Given the description of an element on the screen output the (x, y) to click on. 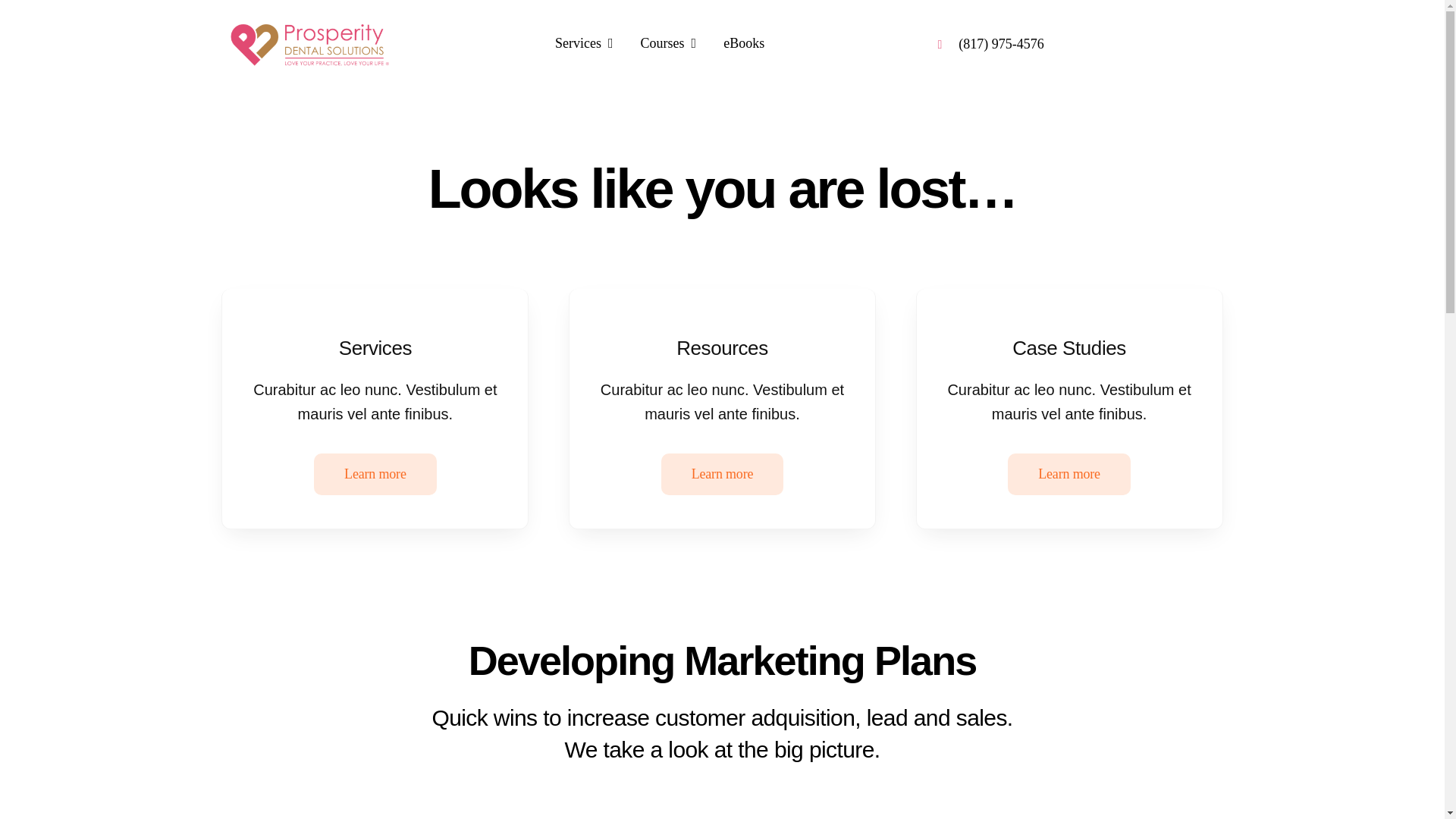
eBooks (743, 43)
Learn more (375, 474)
Services (583, 43)
Courses (668, 43)
Learn more (1069, 474)
Learn more (722, 474)
